Given the description of an element on the screen output the (x, y) to click on. 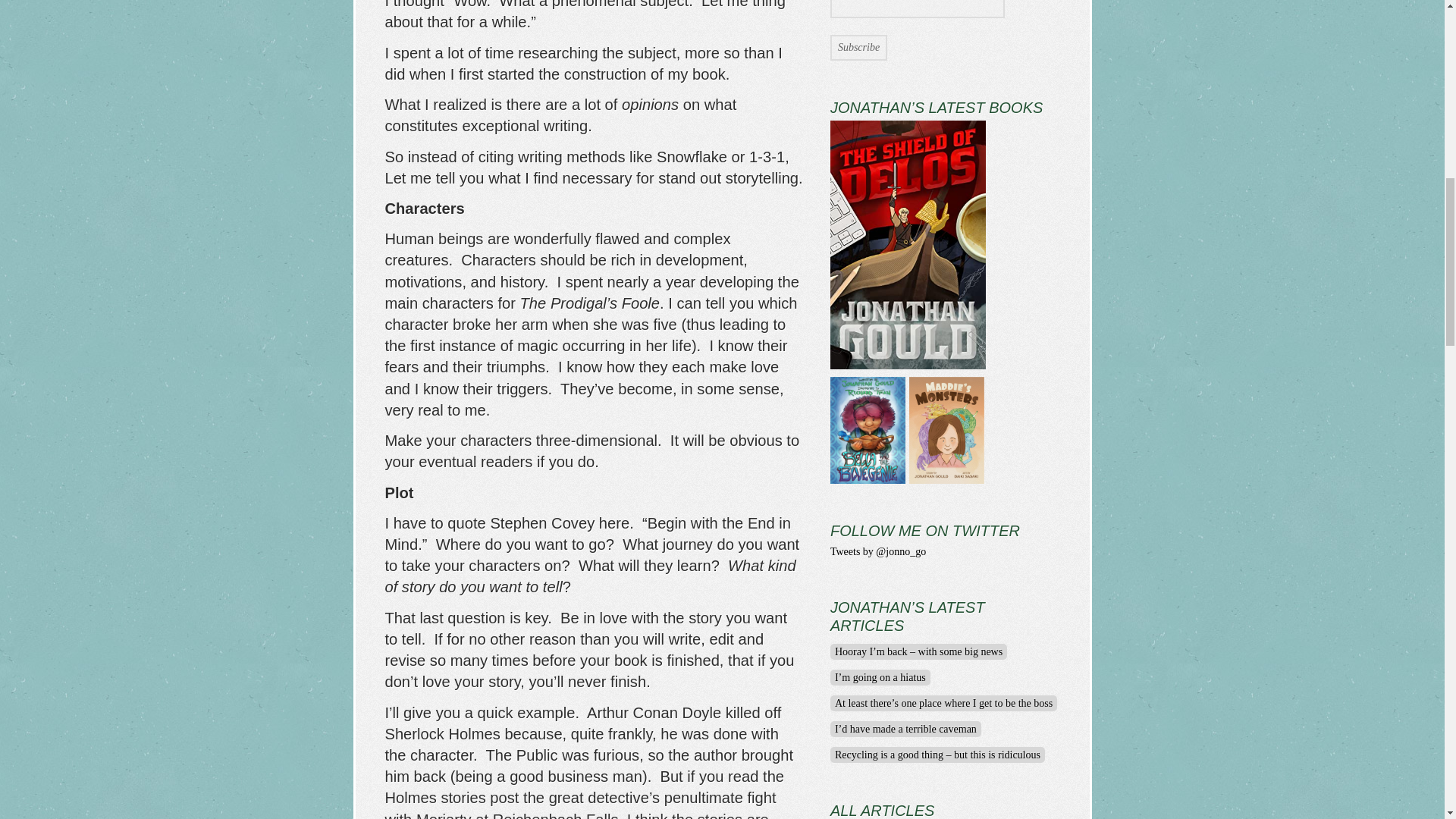
Subscribe (857, 47)
